Given the description of an element on the screen output the (x, y) to click on. 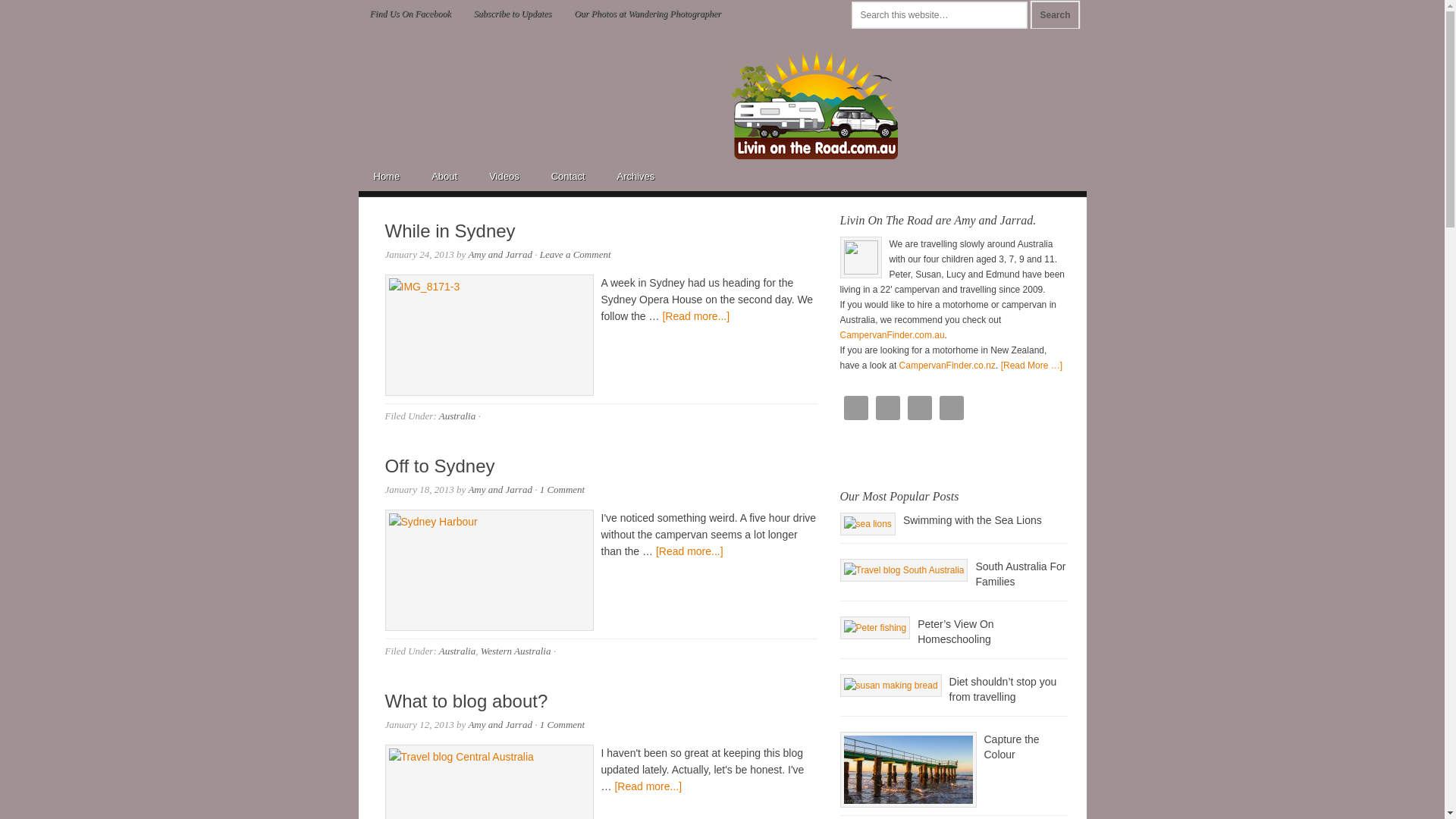
Capture the Colour Element type: hover (908, 769)
[Read more...] Element type: text (689, 551)
Western Australia Element type: text (515, 650)
Facebook Element type: text (887, 407)
Subscribe to Updates Element type: text (511, 13)
Swimming with the Sea Lions Element type: text (972, 520)
Amy and Jarrad Element type: text (499, 254)
Twitter Element type: text (950, 407)
1 Comment Element type: text (562, 724)
South Australia For Families Element type: hover (904, 569)
Amy and Jarrad Element type: text (499, 489)
LIVING ON THE ROAD Element type: text (490, 73)
[Read more...] Element type: text (695, 316)
Find Us On Facebook Element type: text (409, 13)
What to blog about? Element type: text (466, 700)
CampervanFinder.com.au Element type: text (892, 334)
RSS Element type: text (918, 407)
About Element type: text (444, 175)
Leave a Comment Element type: text (575, 254)
Our Photos at Wandering Photographer Element type: text (647, 13)
Swimming with the Sea Lions Element type: hover (867, 523)
Archives Element type: text (636, 175)
Videos Element type: text (504, 175)
South Australia For Families Element type: text (1020, 573)
Email Element type: text (855, 407)
Amy and Jarrad Element type: text (499, 724)
Off to Sydney Element type: text (440, 465)
Australia Element type: text (457, 650)
CampervanFinder.co.nz Element type: text (947, 365)
Search Element type: text (1054, 14)
family travel blog Australia Element type: hover (814, 105)
Contact Element type: text (569, 175)
While in Sydney Element type: text (450, 230)
Capture the Colour Element type: text (1011, 746)
Home Element type: text (386, 175)
1 Comment Element type: text (562, 489)
Australia Element type: text (457, 415)
[Read more...] Element type: text (647, 786)
